Given the description of an element on the screen output the (x, y) to click on. 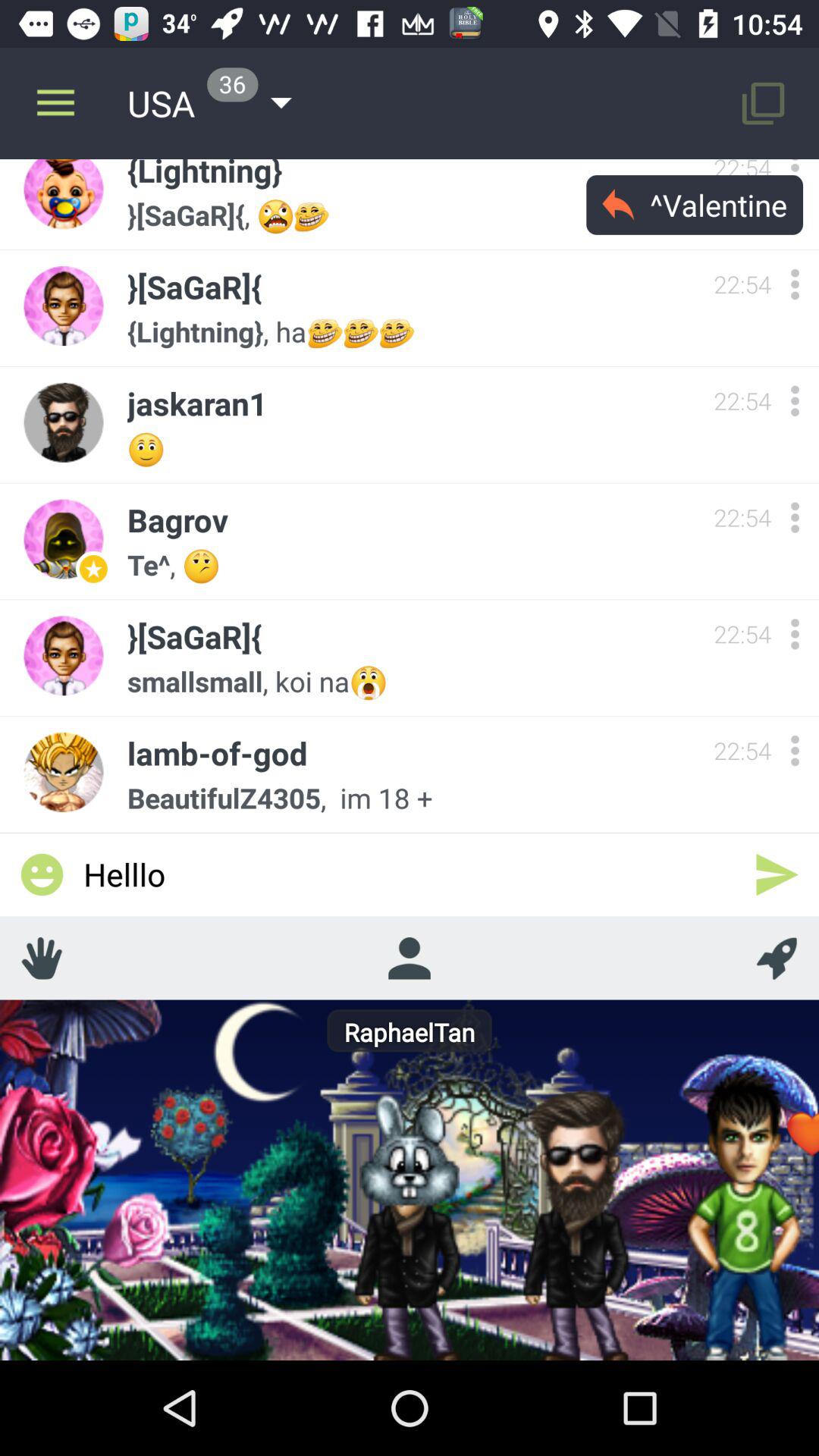
airraplan (777, 957)
